Given the description of an element on the screen output the (x, y) to click on. 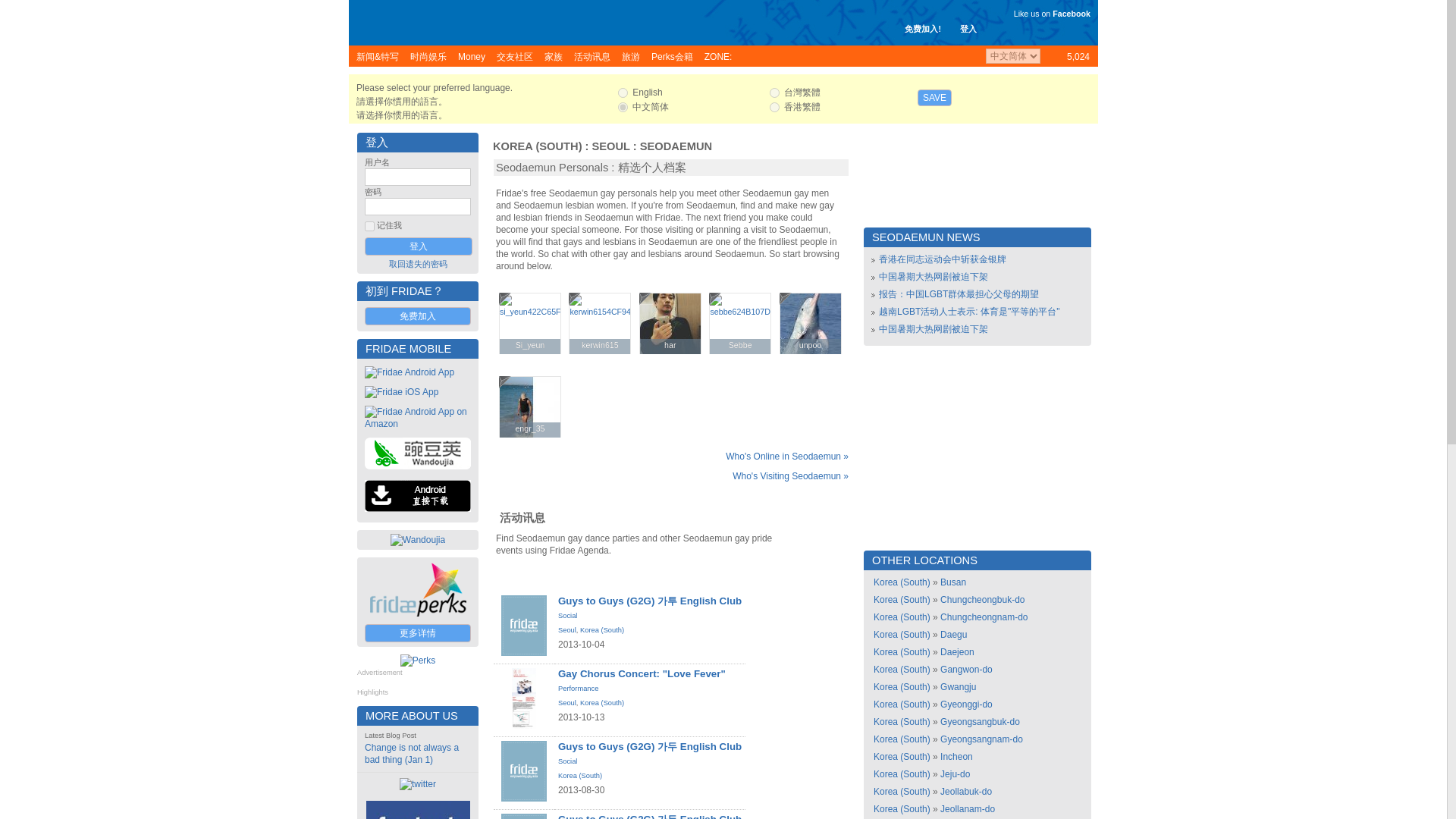
Offline (644, 298)
sc (622, 107)
Offline (714, 298)
Money (471, 55)
Facebook (1071, 13)
Close this panel (1087, 86)
Offline (785, 298)
Worldwide (1068, 56)
Offline (505, 298)
hk (774, 107)
